Given the description of an element on the screen output the (x, y) to click on. 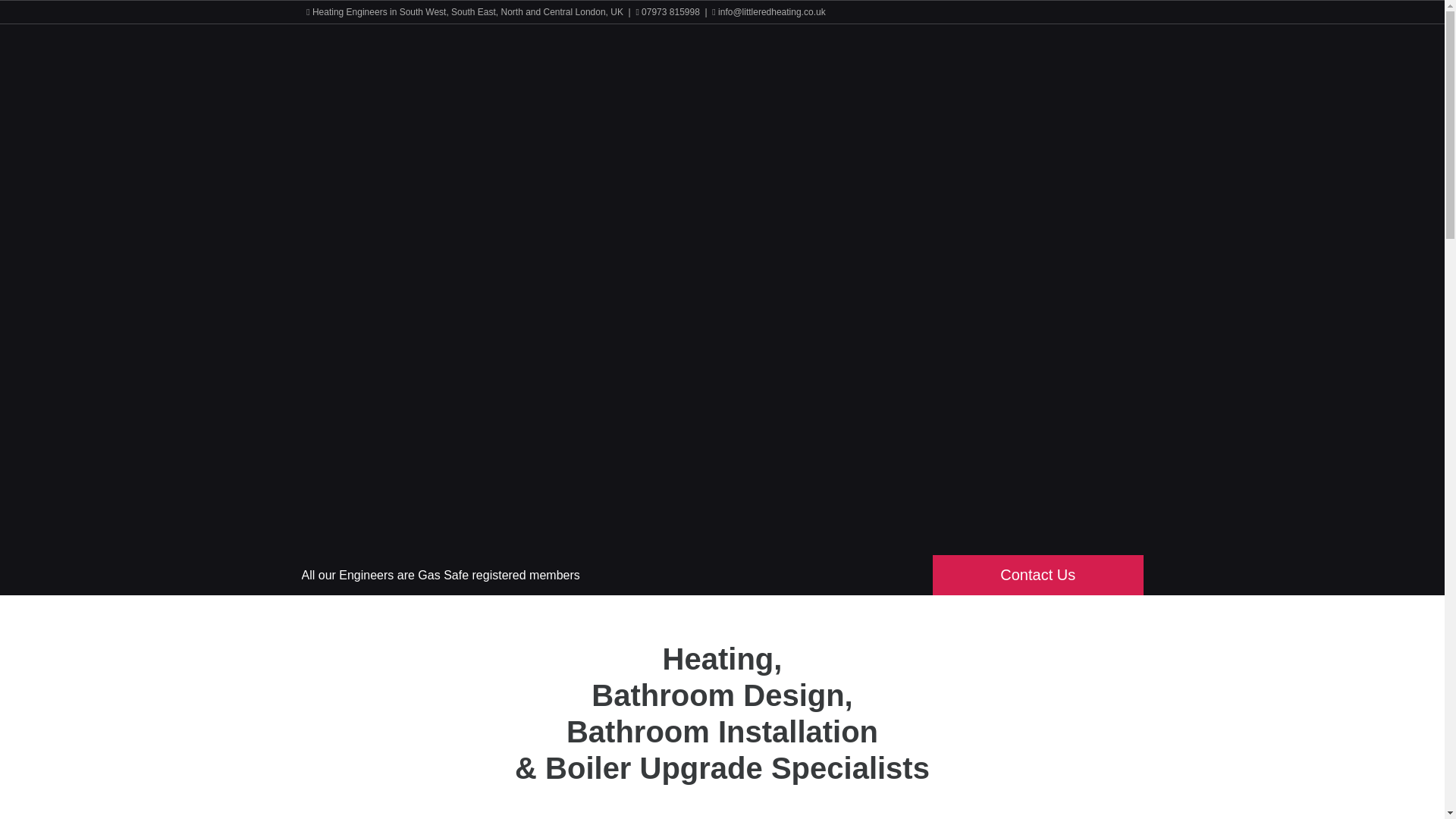
Contact Us (1037, 575)
